Given the description of an element on the screen output the (x, y) to click on. 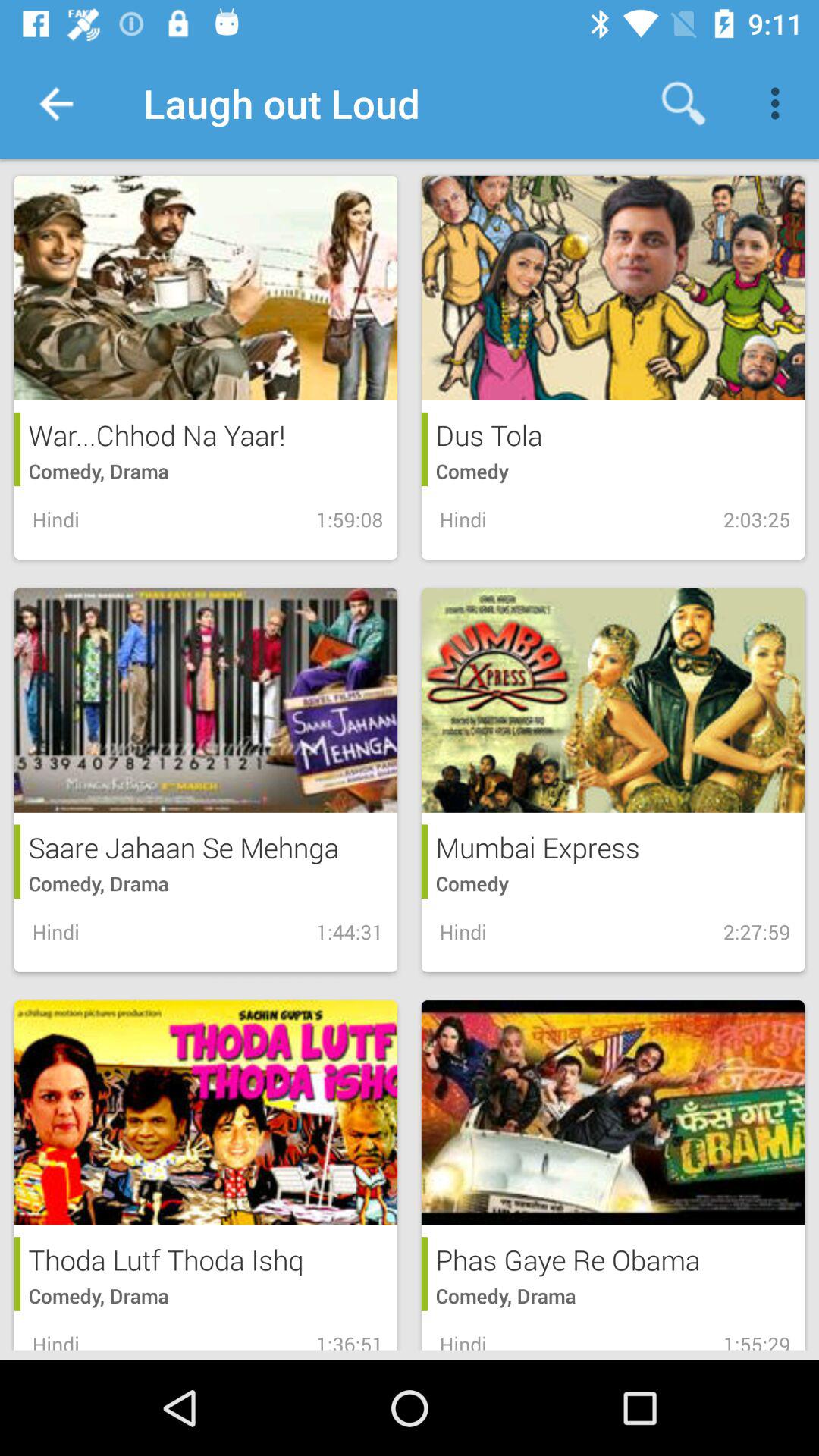
launch the app next to the laugh out loud  item (55, 103)
